Given the description of an element on the screen output the (x, y) to click on. 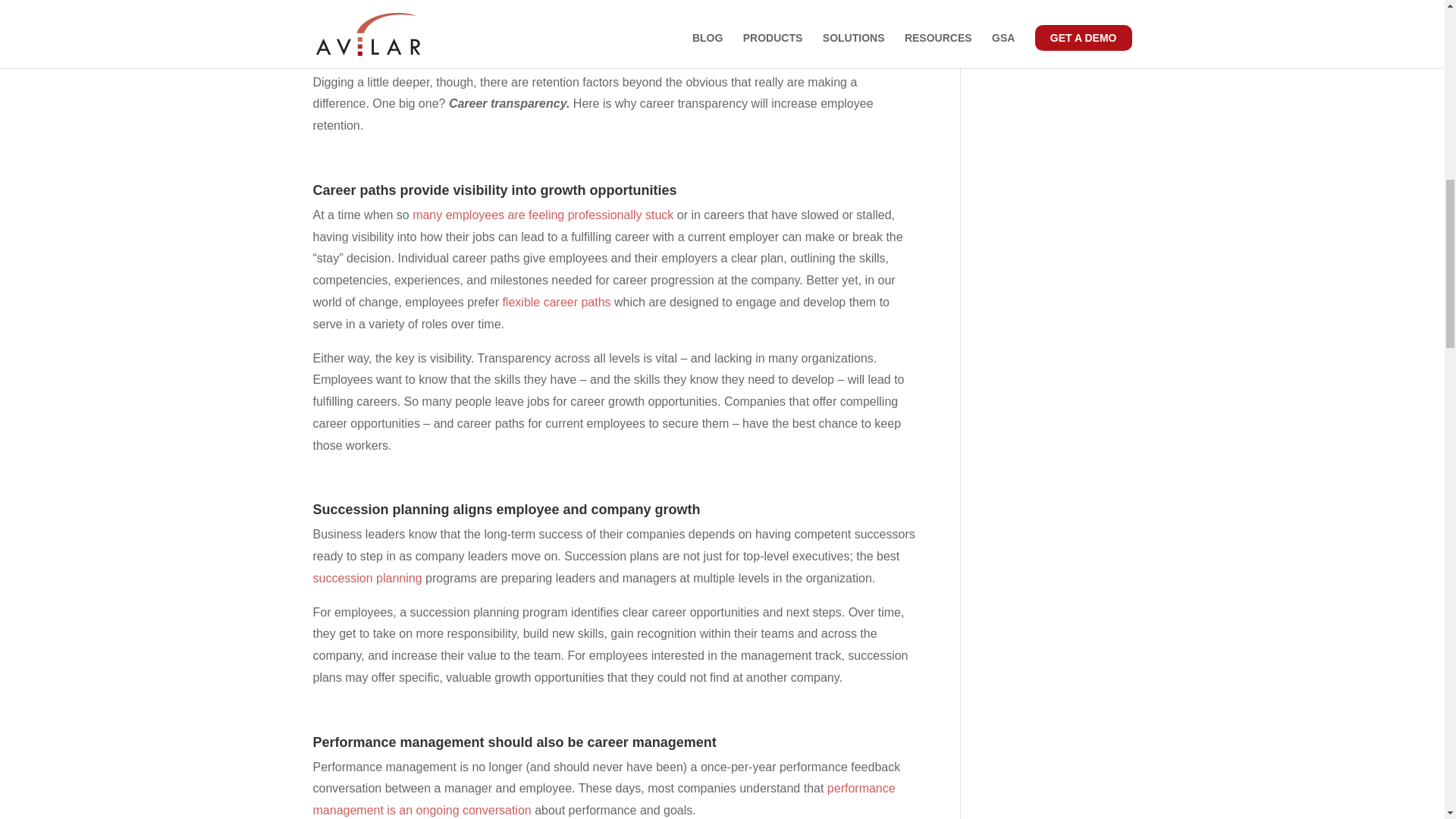
many employees are feeling professionally stuck (542, 214)
flexible career paths (556, 301)
succession planning (367, 577)
performance management is an ongoing conversation (604, 799)
Peakon (494, 25)
